Given the description of an element on the screen output the (x, y) to click on. 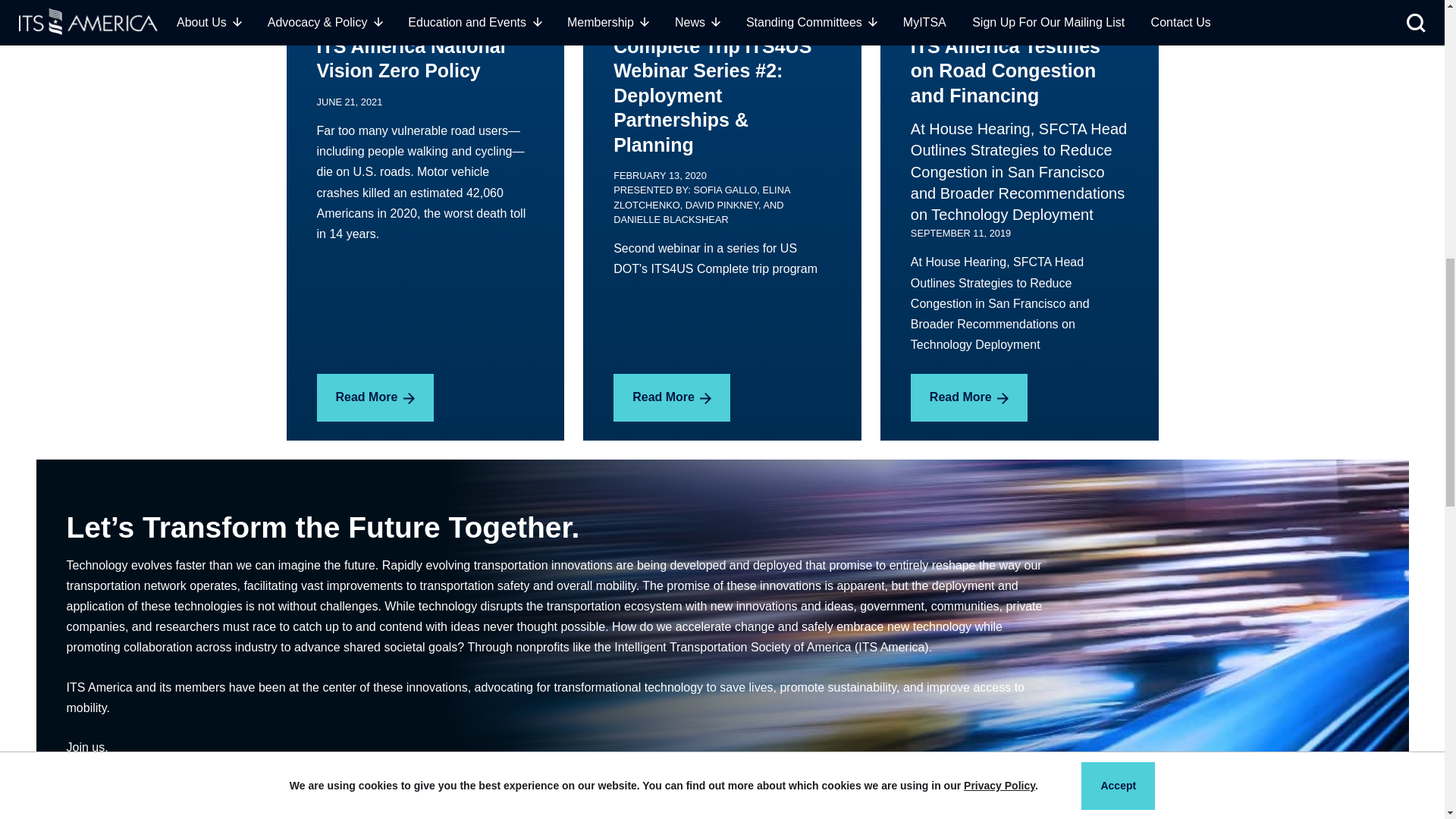
ITS America Testifies on Road Congestion and Financing (1019, 397)
Become a Member (147, 799)
ITS America National Vision Zero Policy (425, 341)
